Given the description of an element on the screen output the (x, y) to click on. 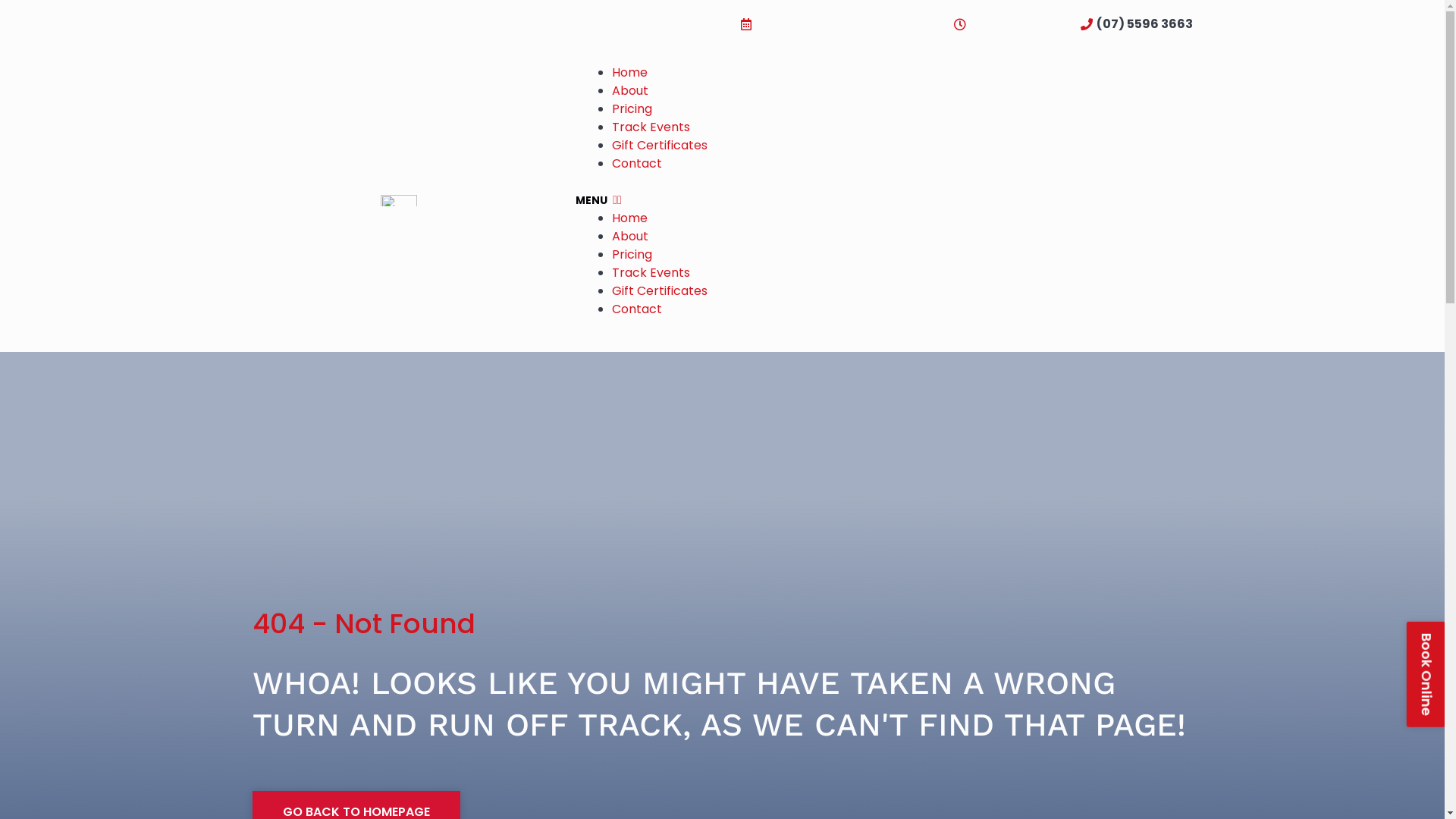
Book Online (Recommended) Element type: text (836, 24)
Home Element type: text (629, 217)
Pricing Element type: text (631, 254)
Home Element type: text (629, 72)
Track Events Element type: text (650, 272)
About Element type: text (629, 235)
About Element type: text (629, 90)
Gift Certificates Element type: text (659, 144)
Gift Certificates Element type: text (659, 290)
Track Events Element type: text (650, 126)
Contact Element type: text (636, 163)
Opening Hours Element type: text (1007, 24)
Contact Element type: text (636, 308)
Pricing Element type: text (631, 108)
